Given the description of an element on the screen output the (x, y) to click on. 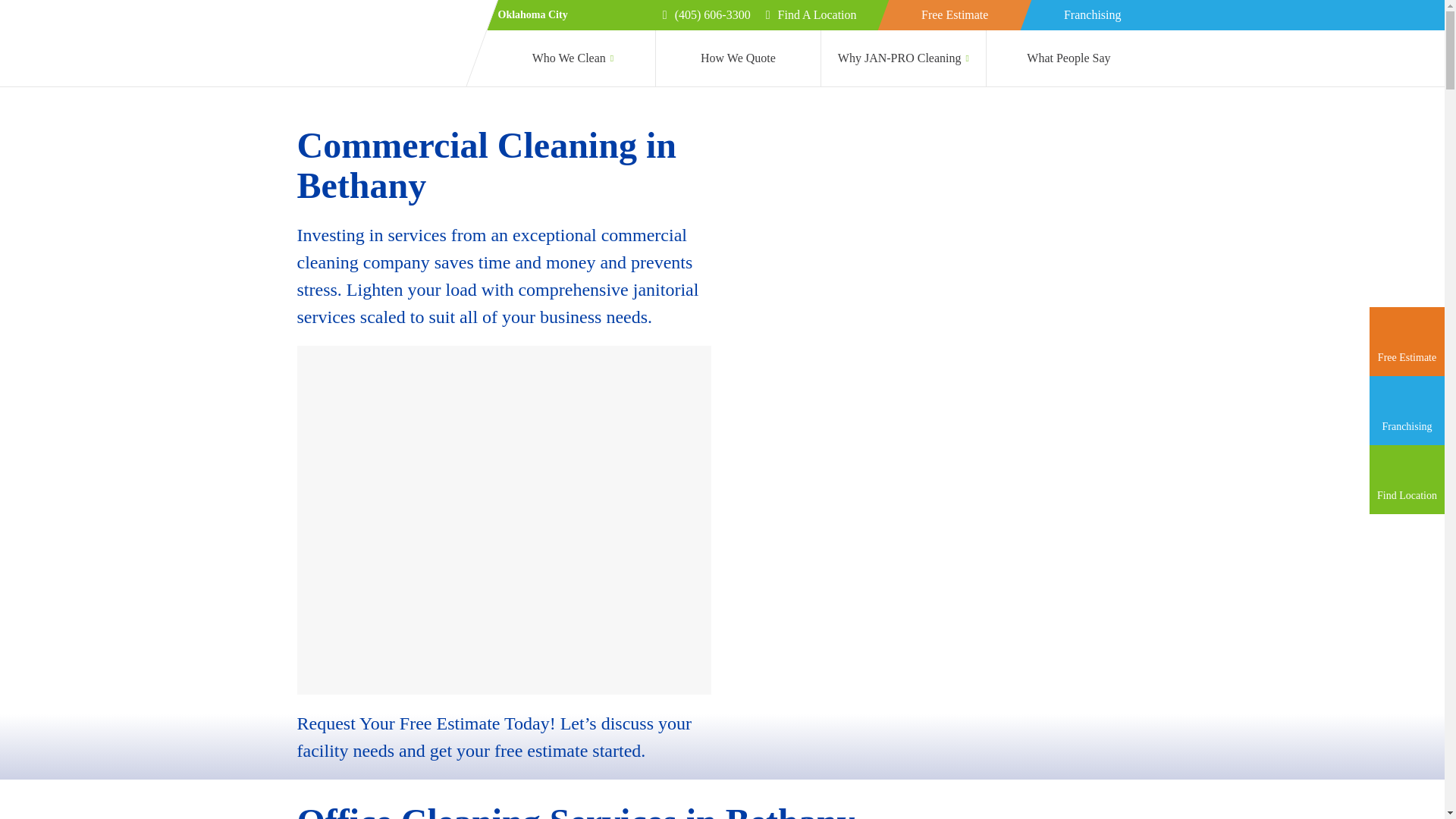
Free Estimate (954, 15)
Franchising (1092, 15)
Find A Location (811, 15)
Who We Clean (572, 58)
